Given the description of an element on the screen output the (x, y) to click on. 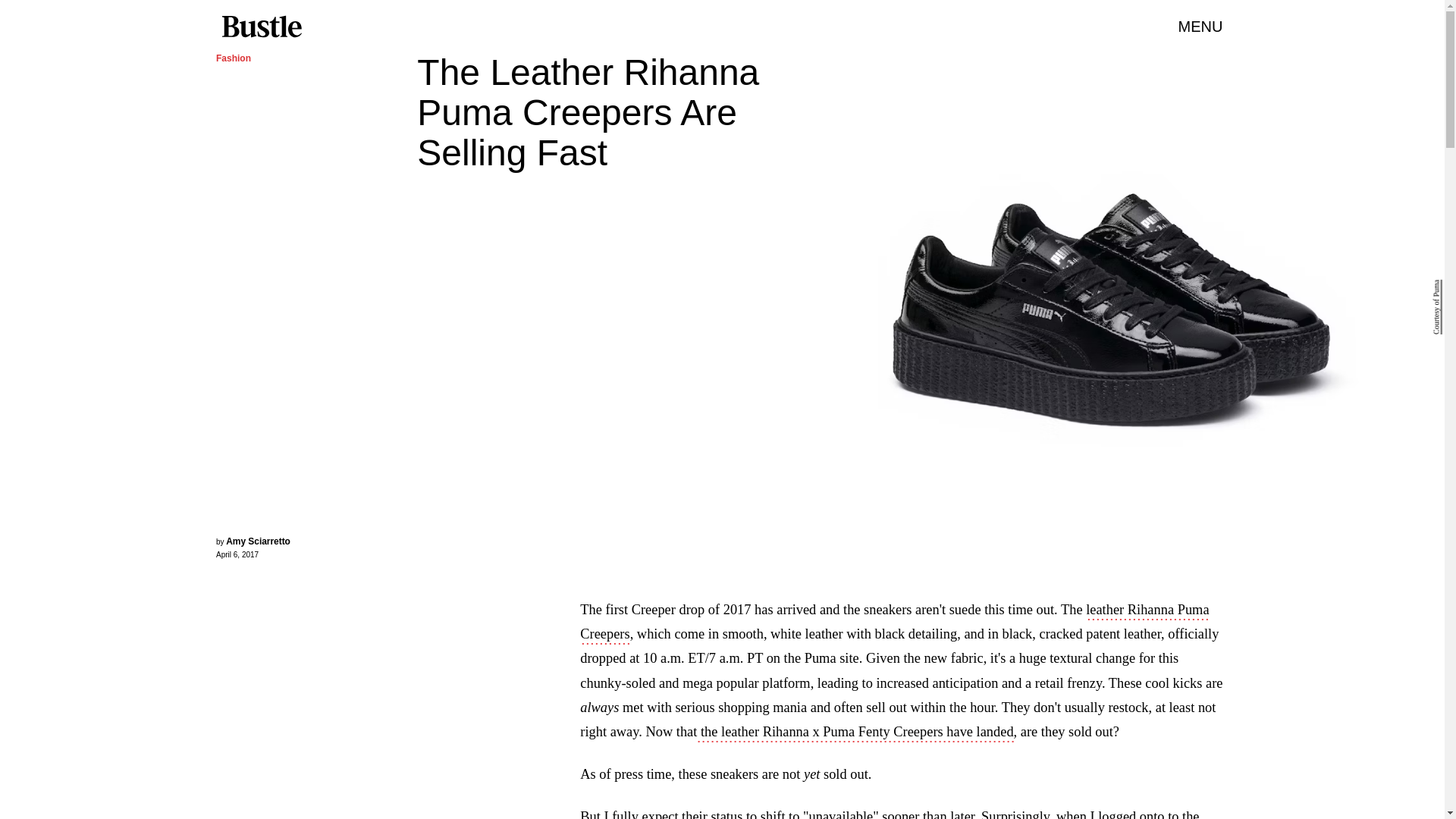
Amy Sciarretto (257, 541)
Bustle (261, 26)
leather Rihanna Puma Creepers (893, 622)
the leather Rihanna x Puma Fenty Creepers have landed (855, 732)
